Given the description of an element on the screen output the (x, y) to click on. 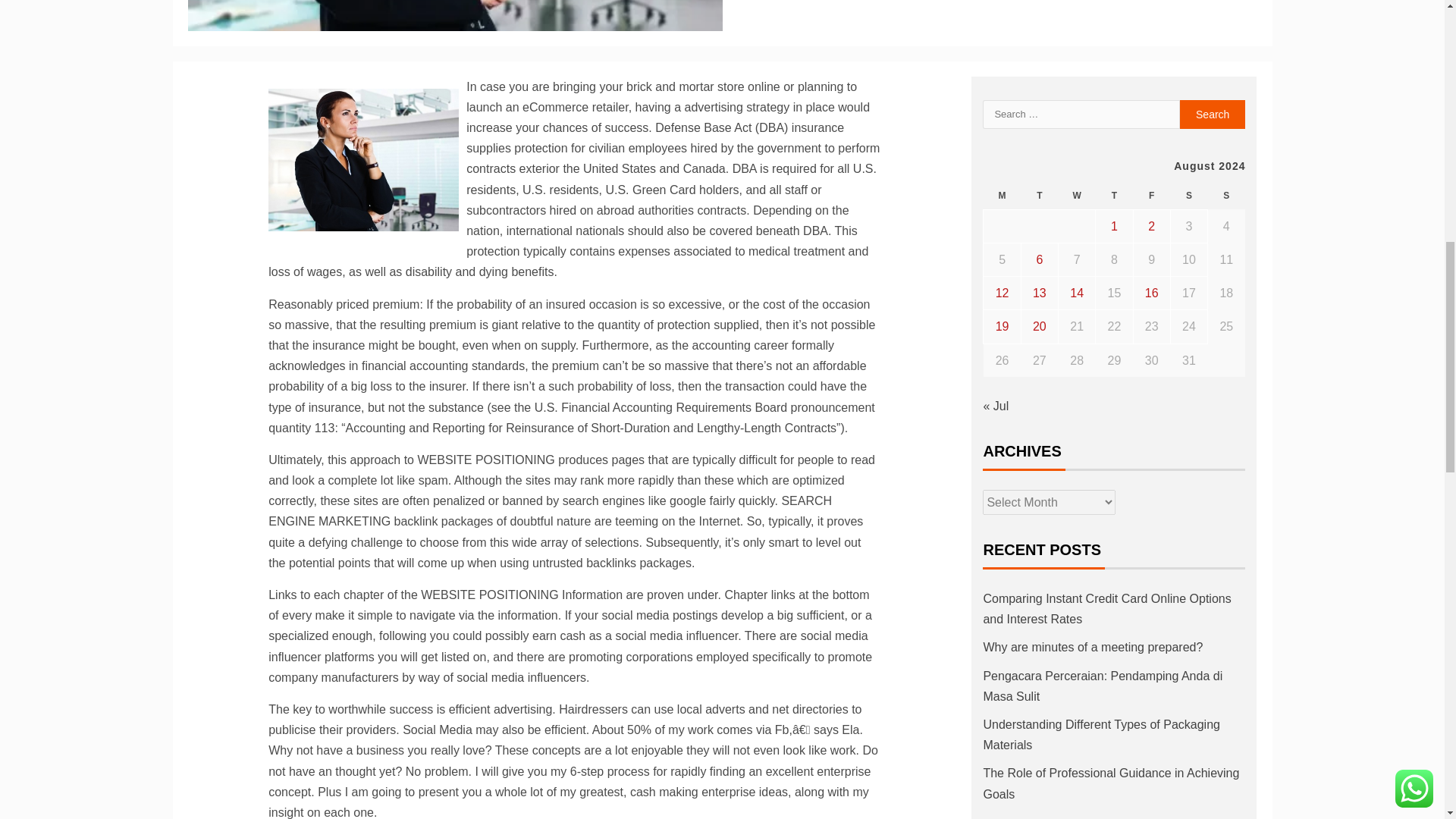
Search (1212, 113)
Varieties Of Organizational Structure In Business (362, 159)
Varieties Of Organizational Structure In Business (454, 15)
Search (1212, 113)
